Given the description of an element on the screen output the (x, y) to click on. 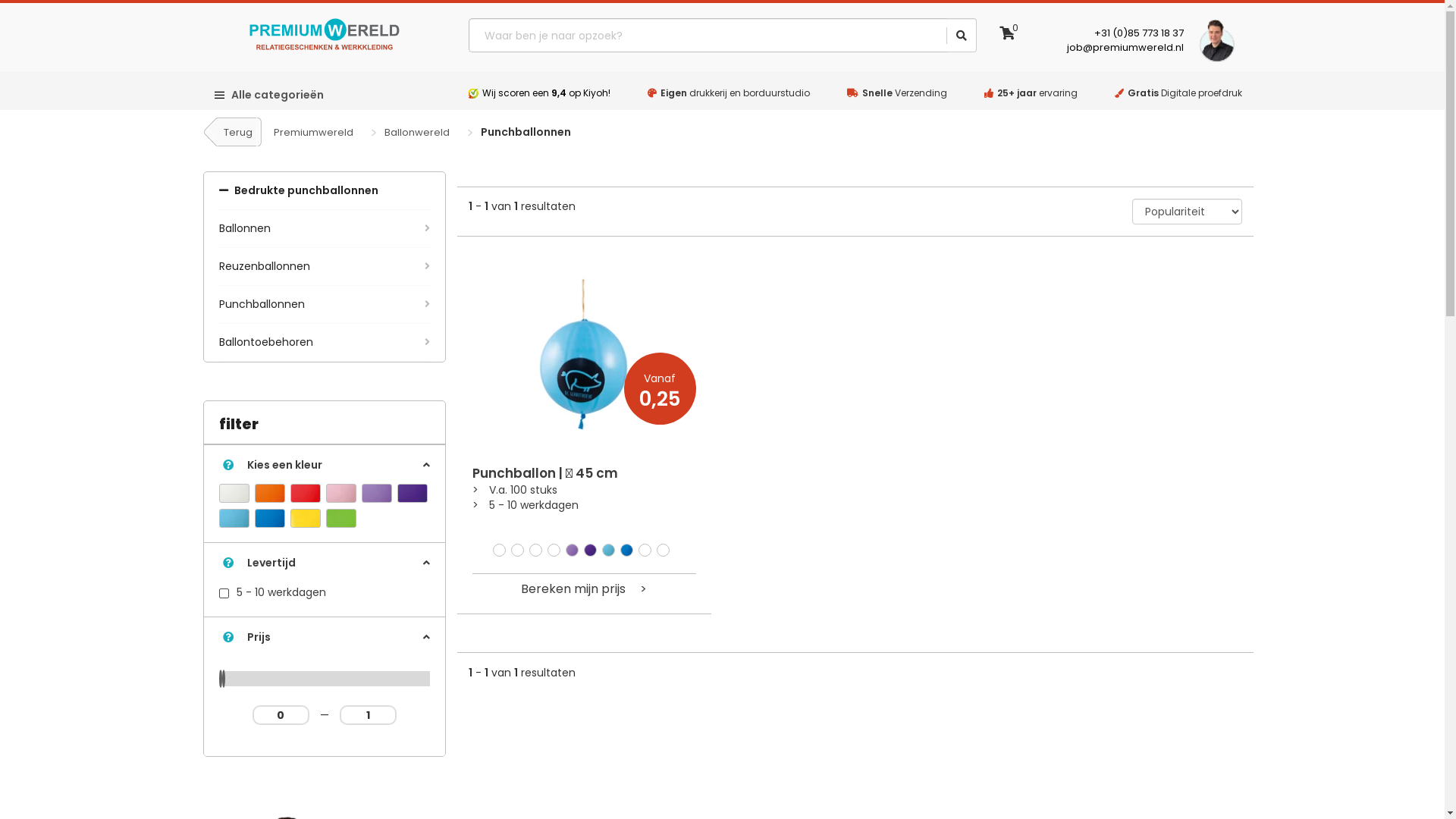
Reuzenballonnen Element type: text (323, 266)
job@premiumwereld.nl Element type: text (1124, 47)
Ballonwereld Element type: text (415, 131)
divider Element type: hover (946, 35)
Wij scoren een 9,4 op Kiyoh! Element type: text (546, 92)
+31 (0)85 773 18 37 Element type: text (1138, 32)
Punchballonnen Element type: text (323, 304)
Ballontoebehoren Element type: text (323, 341)
Terug Element type: text (233, 131)
Premiumwereld Element type: text (312, 131)
Ballonnen Element type: text (323, 228)
